Given the description of an element on the screen output the (x, y) to click on. 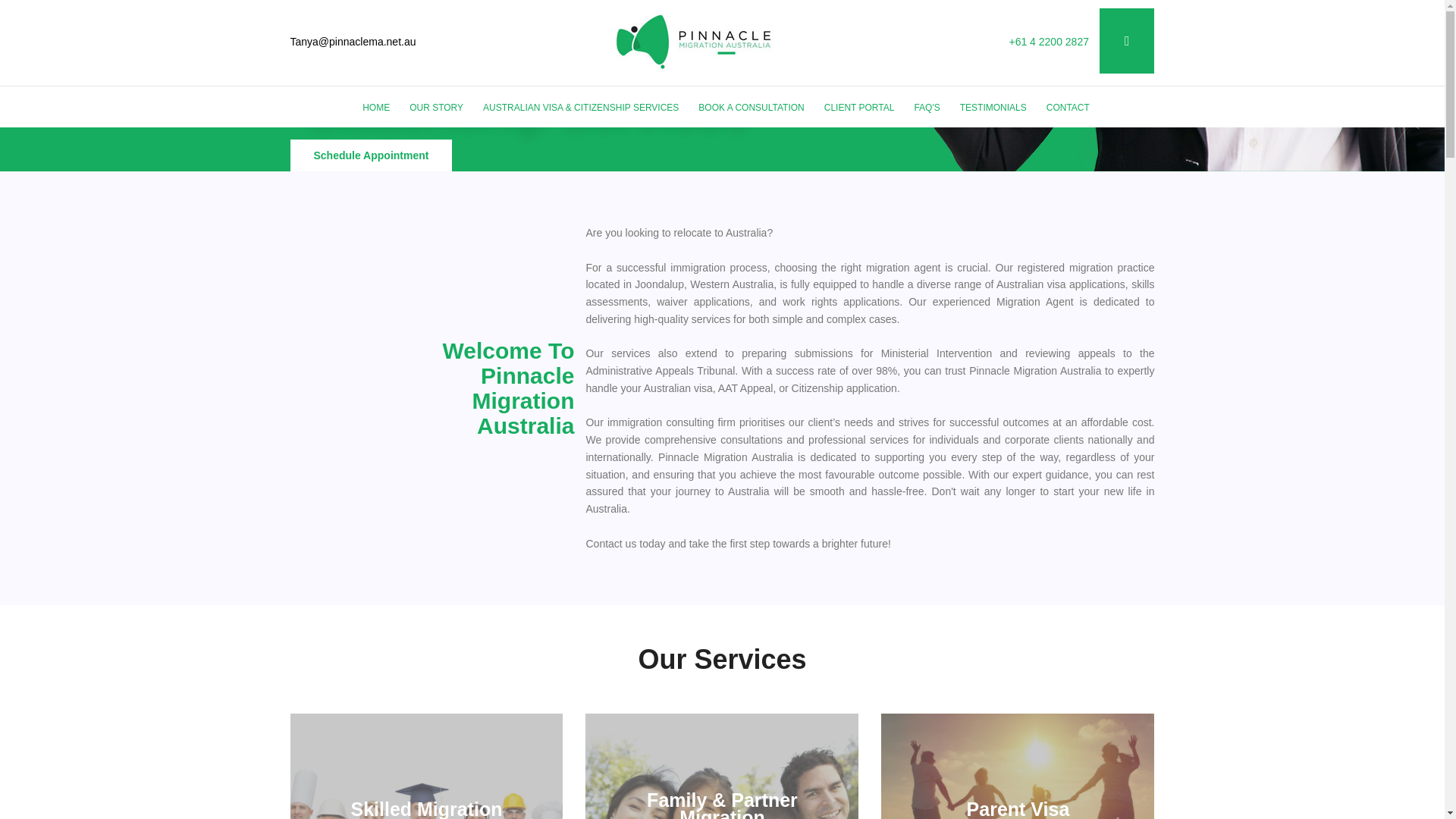
TESTIMONIALS (992, 108)
Schedule Appointment (370, 155)
HOME (376, 108)
Parent Visa (1018, 808)
BOOK A CONSULTATION (751, 108)
Skilled Migration (426, 808)
CONTACT (1068, 108)
OUR STORY (435, 108)
CLIENT PORTAL (859, 108)
FAQ'S (925, 108)
